Given the description of an element on the screen output the (x, y) to click on. 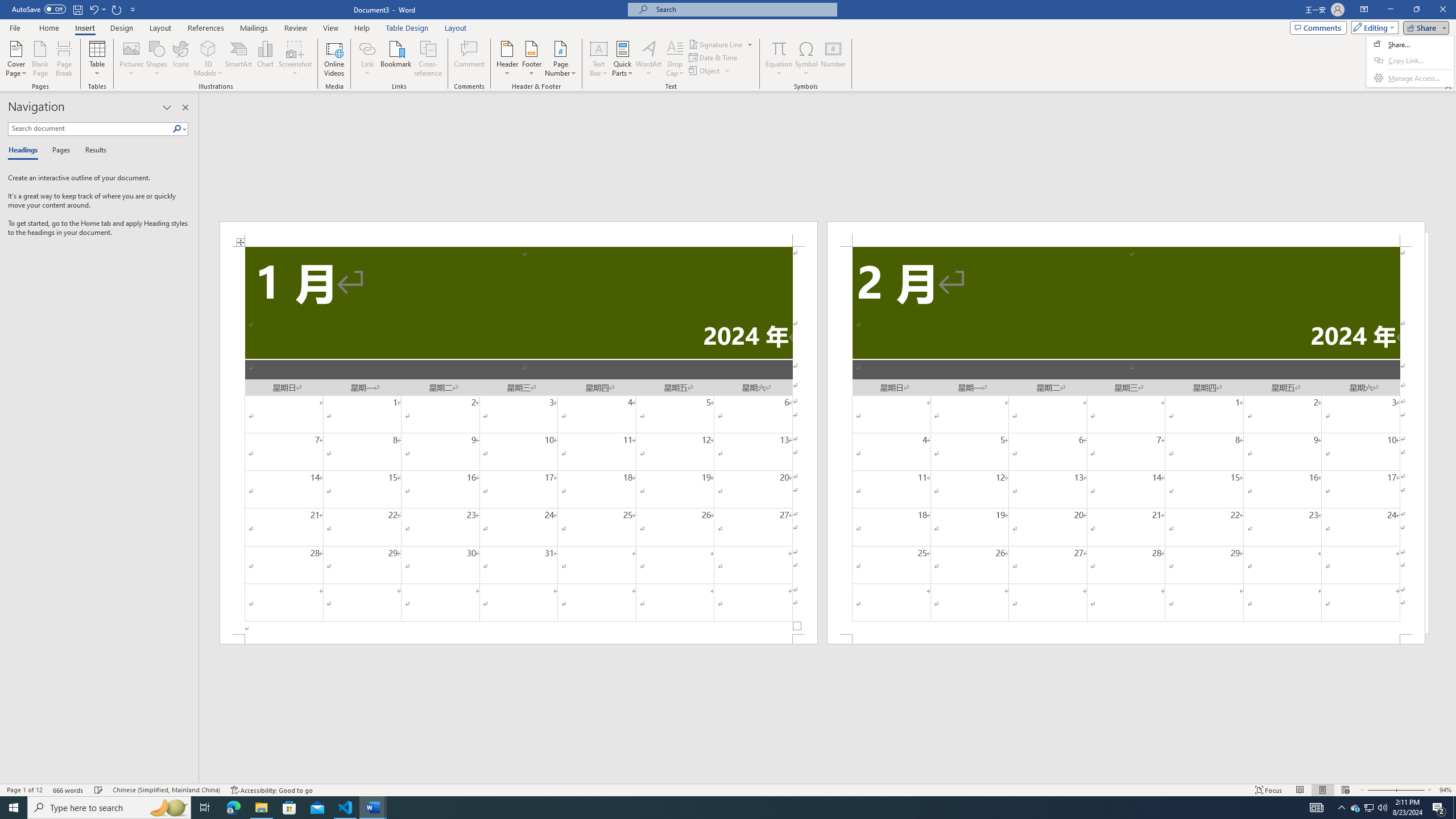
Table (97, 58)
Bookmark... (396, 58)
Number... (833, 58)
Page Number (560, 58)
Footer (531, 58)
Object... (705, 69)
